Given the description of an element on the screen output the (x, y) to click on. 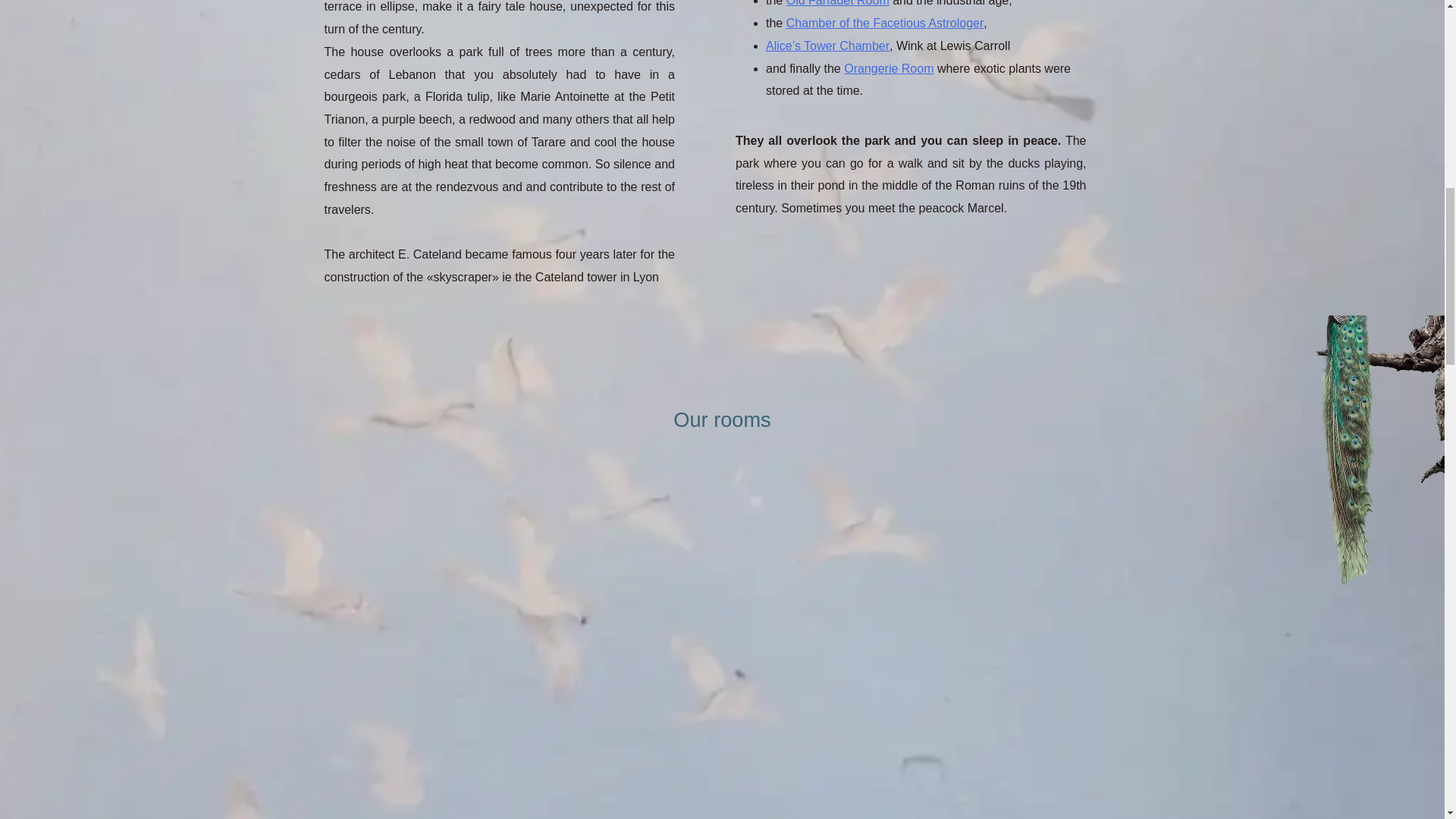
Chamber of the Facetious Astrologer (885, 22)
Orangerie Room (888, 68)
Old Farfadet Room (837, 3)
